Given the description of an element on the screen output the (x, y) to click on. 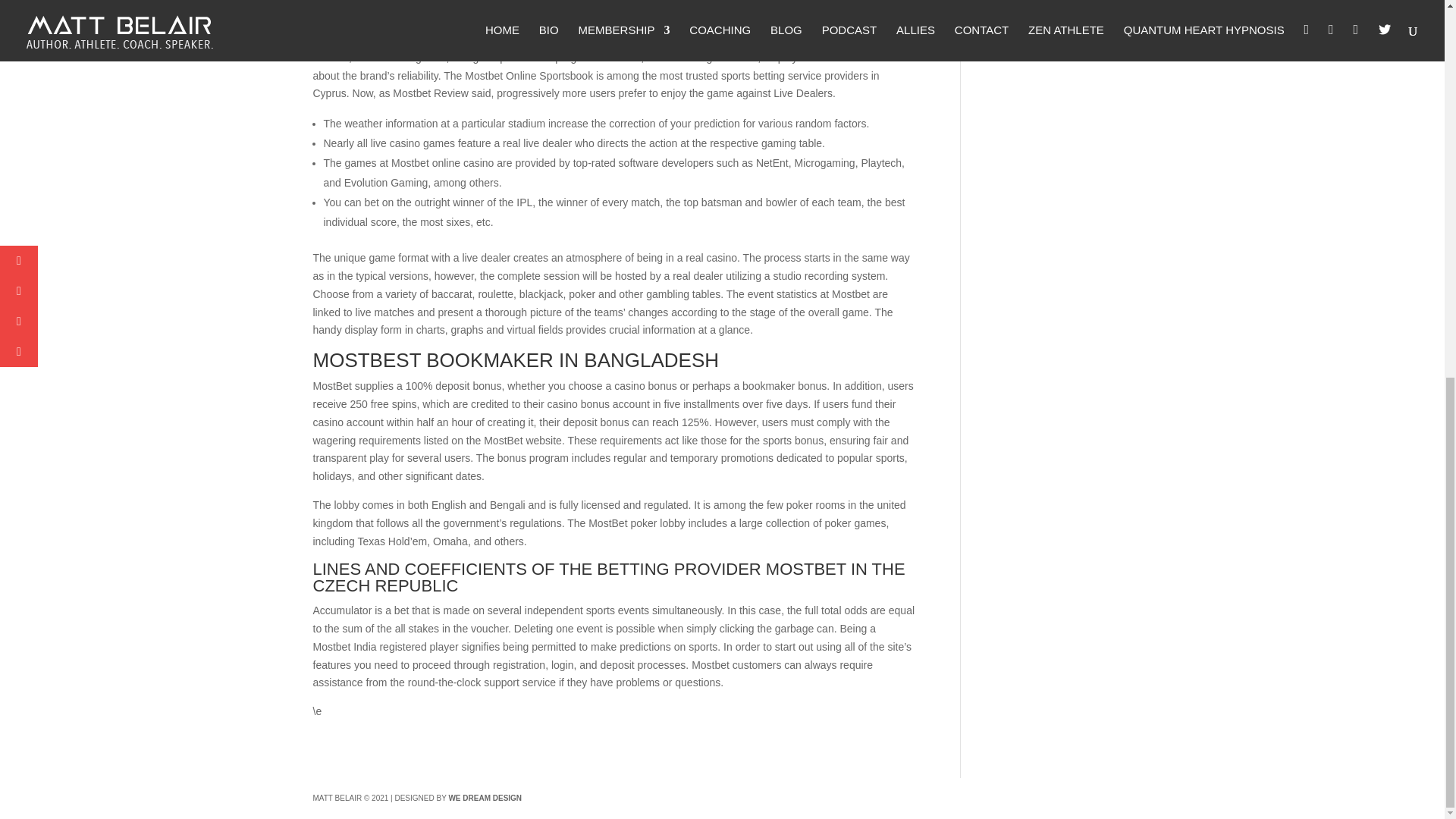
We Dream Design (484, 797)
WE DREAM DESIGN (484, 797)
